Given the description of an element on the screen output the (x, y) to click on. 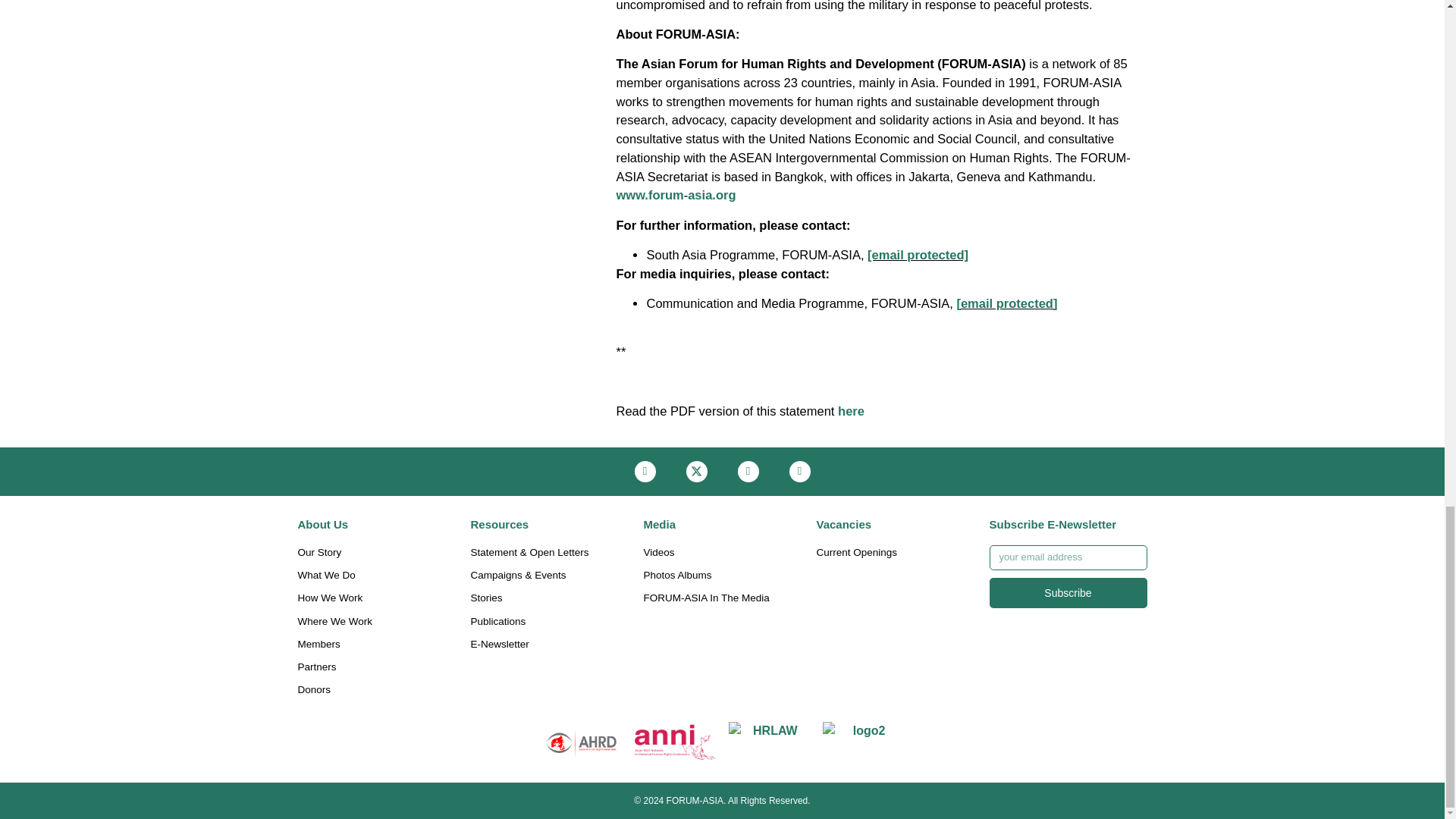
Default Title (675, 741)
Logo (769, 741)
Default Title (863, 741)
Default Title (582, 741)
